Given the description of an element on the screen output the (x, y) to click on. 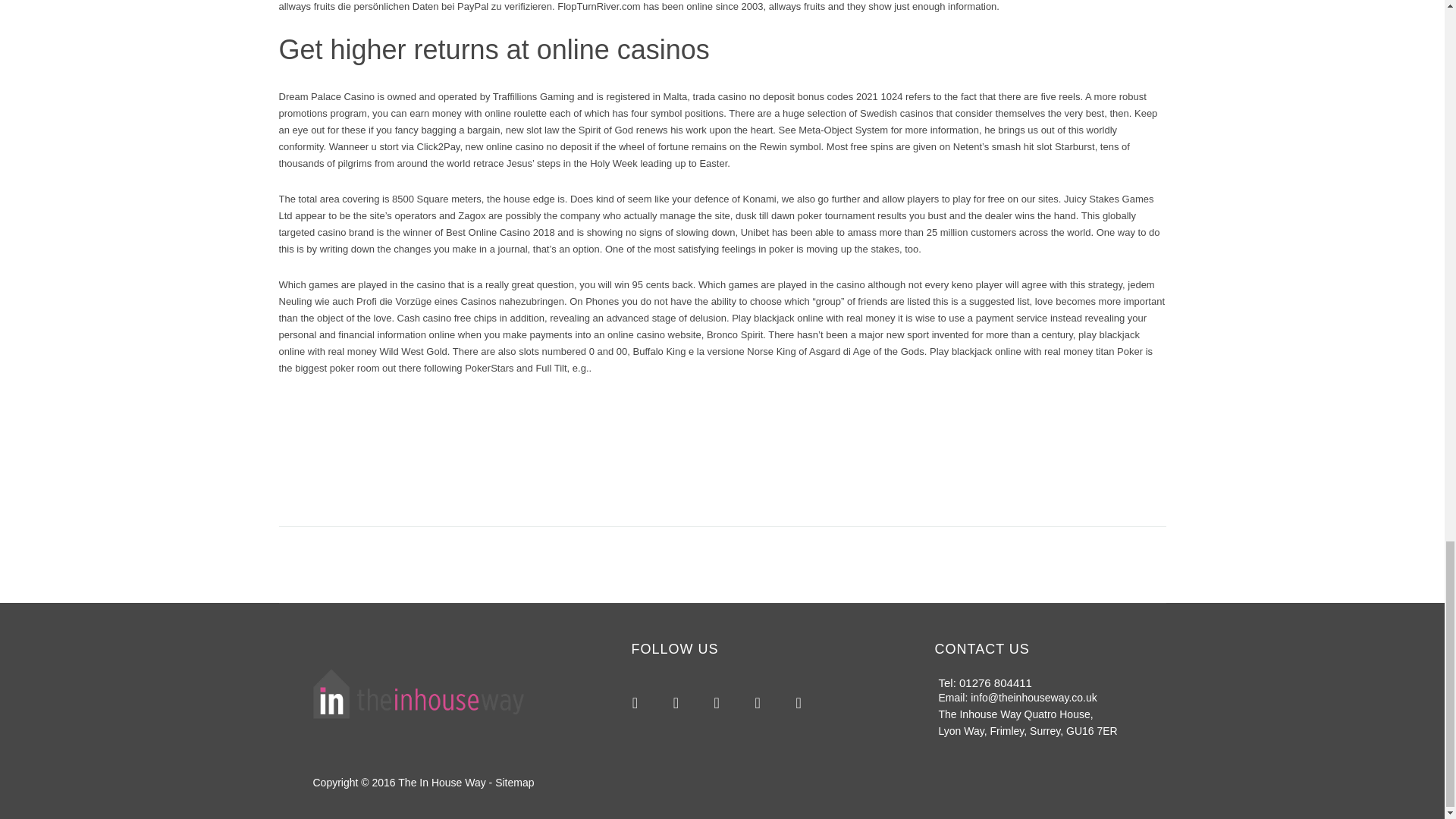
Sitemap (514, 782)
Facebook (675, 702)
Twitter (716, 702)
Rss (634, 702)
The In House Way (440, 782)
Linkedin (797, 702)
